Given the description of an element on the screen output the (x, y) to click on. 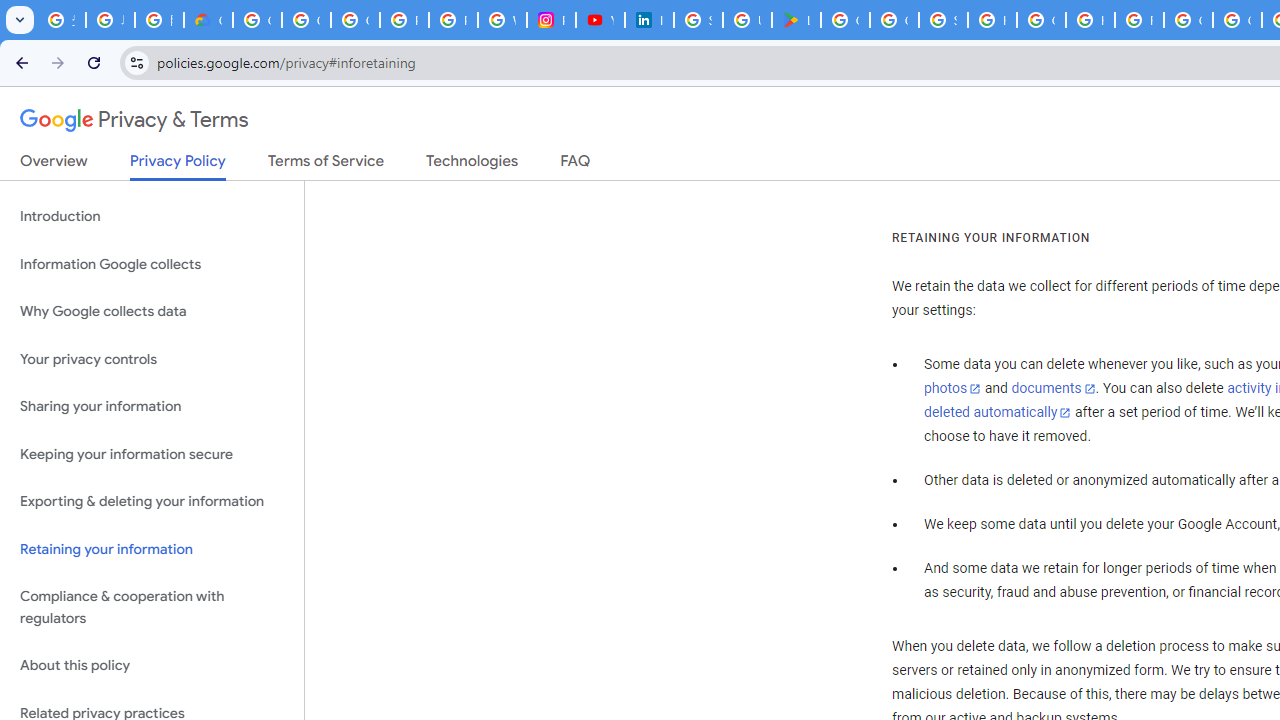
Sign in - Google Accounts (698, 20)
